Given the description of an element on the screen output the (x, y) to click on. 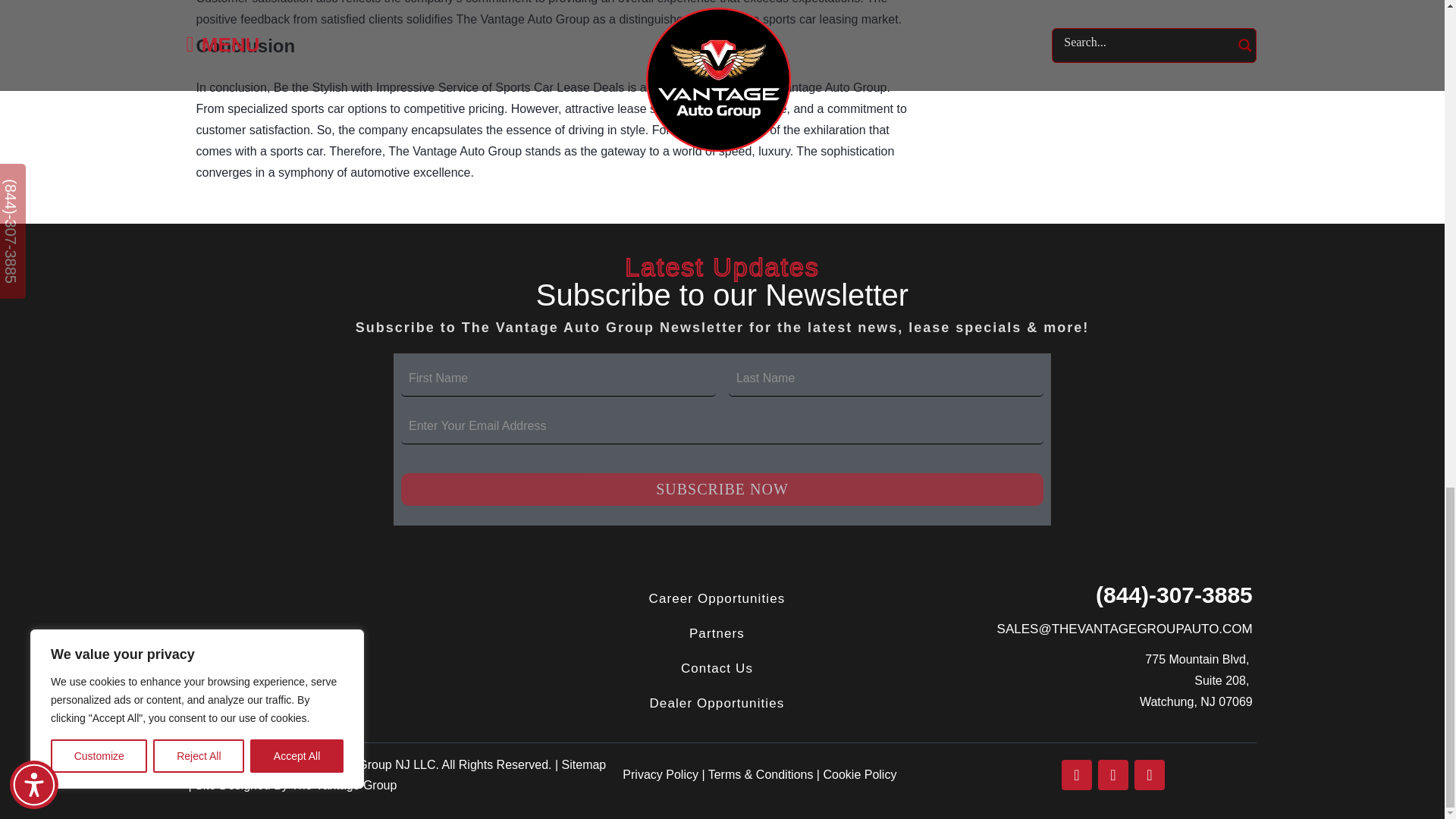
Subscribe Now (722, 489)
